Given the description of an element on the screen output the (x, y) to click on. 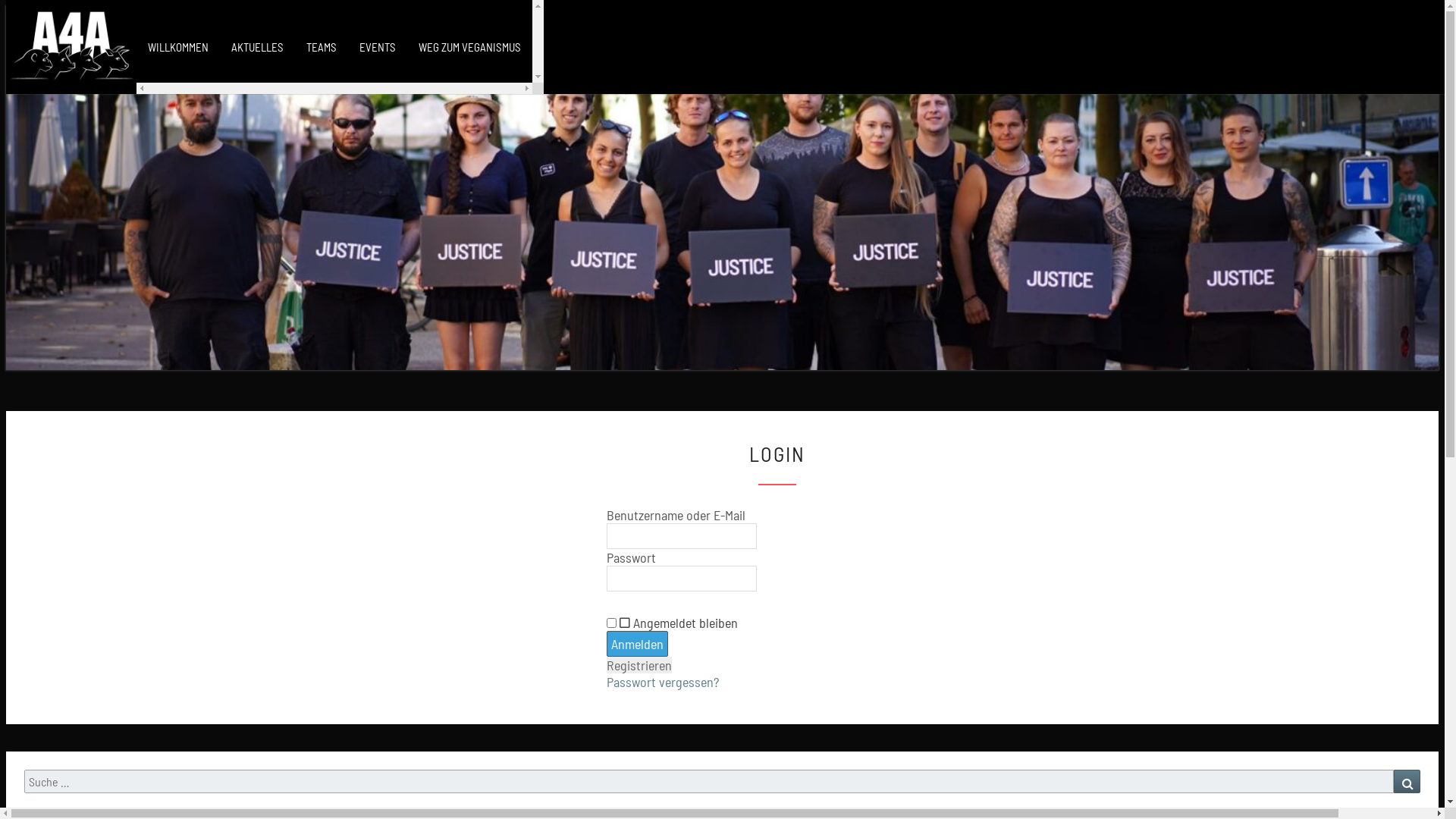
WEG ZUM VEGANISMUS Element type: text (469, 46)
WILLKOMMEN Element type: text (177, 46)
AKTUELLES Element type: text (256, 46)
TEAMS Element type: text (321, 46)
Passwort vergessen? Element type: text (662, 681)
Anmelden Element type: text (637, 643)
EVENTS Element type: text (377, 46)
Zum Inhalt springen Element type: text (5, 5)
Suche Element type: text (1406, 781)
Suche nach: Element type: hover (708, 781)
Registrieren Element type: text (638, 664)
